Given the description of an element on the screen output the (x, y) to click on. 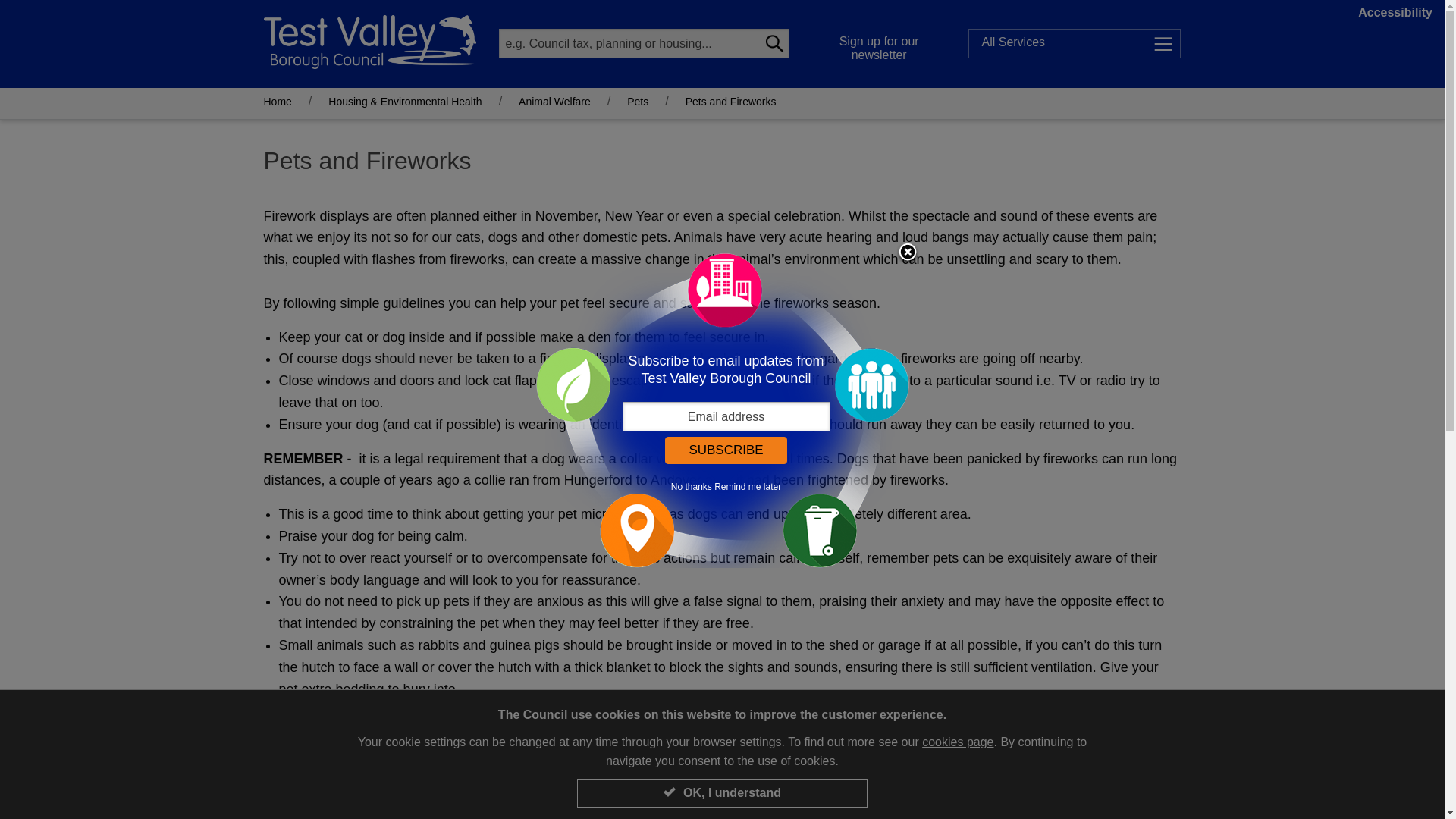
Link to Test Valley home page (369, 41)
All Services (1074, 43)
Animal Welfare (554, 101)
Email address (725, 416)
Home (277, 101)
Pets (637, 101)
Go (774, 43)
Subscribe (725, 450)
Sign up for our newsletter (879, 43)
